Given the description of an element on the screen output the (x, y) to click on. 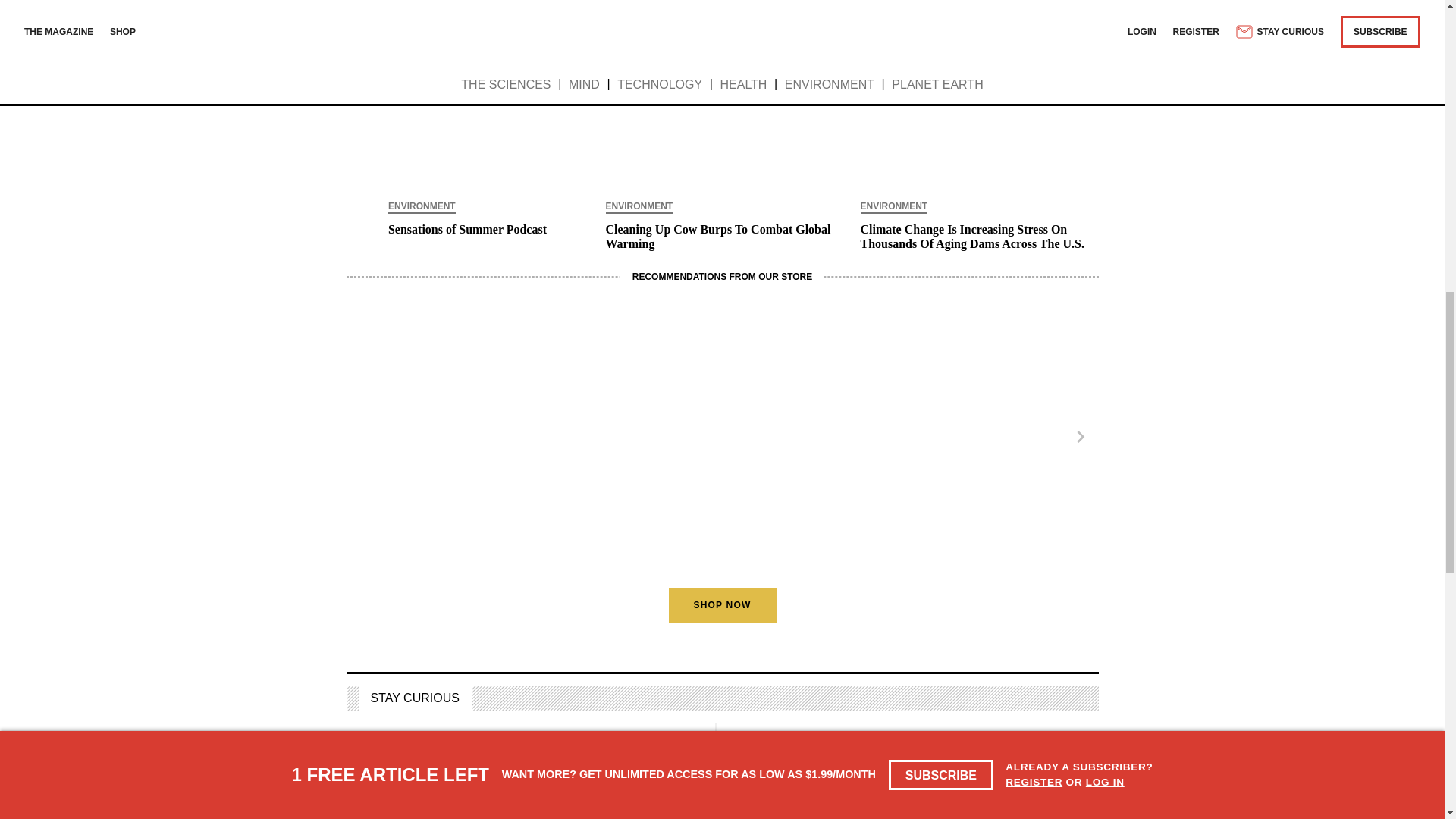
ENVIRONMENT (638, 207)
Sensations of Summer Podcast (467, 229)
ENVIRONMENT (893, 207)
Cleaning Up Cow Burps To Combat Global Warming (721, 236)
ENVIRONMENT (421, 207)
